Given the description of an element on the screen output the (x, y) to click on. 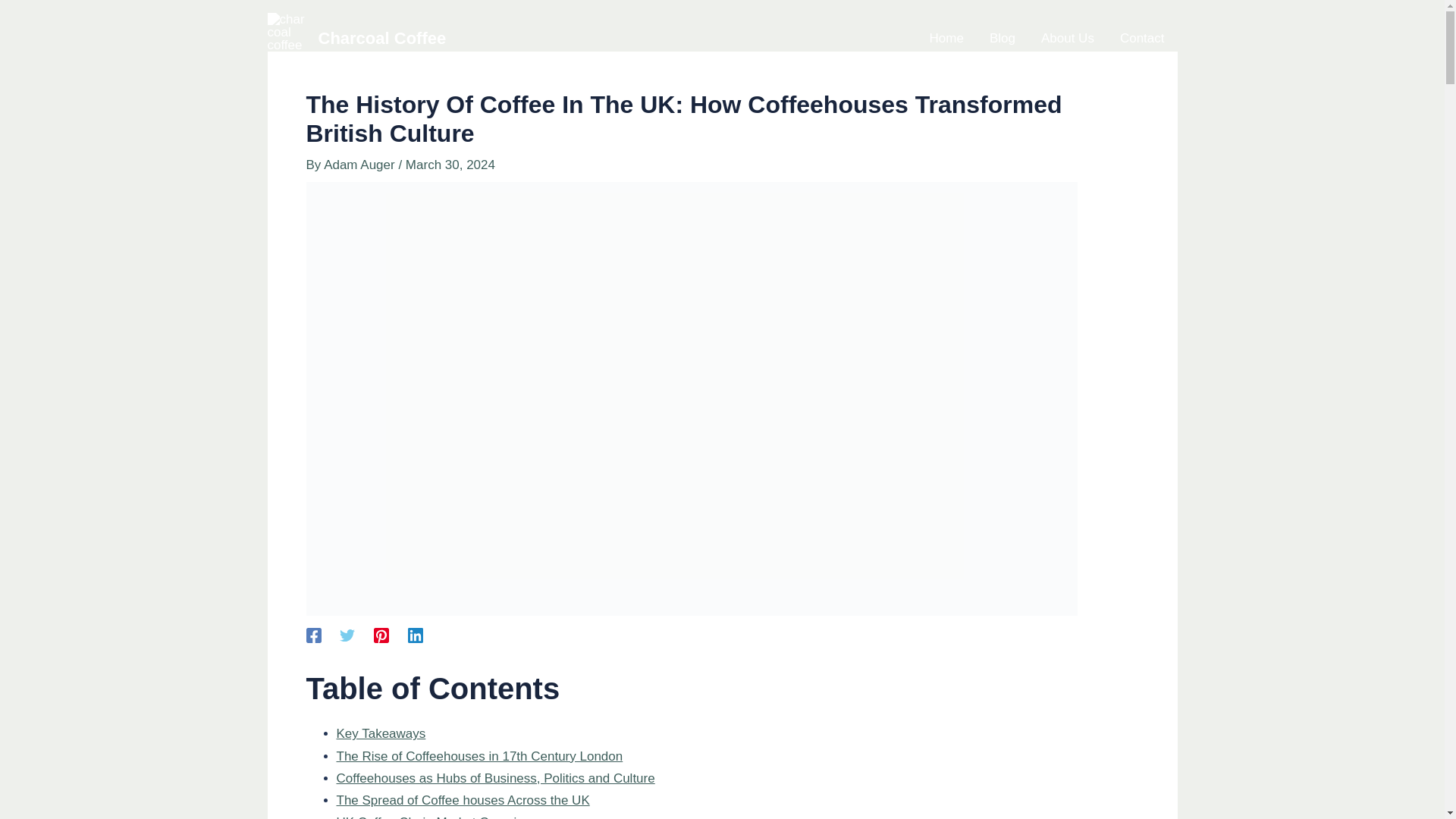
Adam Auger (360, 164)
Blog (1001, 38)
Charcoal Coffee (382, 37)
Coffeehouses as Hubs of Business, Politics and Culture (495, 778)
View all posts by Adam Auger (360, 164)
Key Takeaways (381, 733)
About Us (1066, 38)
Contact (1141, 38)
The Rise of Coffeehouses in 17th Century London (479, 756)
The Spread of Coffee houses Across the UK (462, 800)
